Given the description of an element on the screen output the (x, y) to click on. 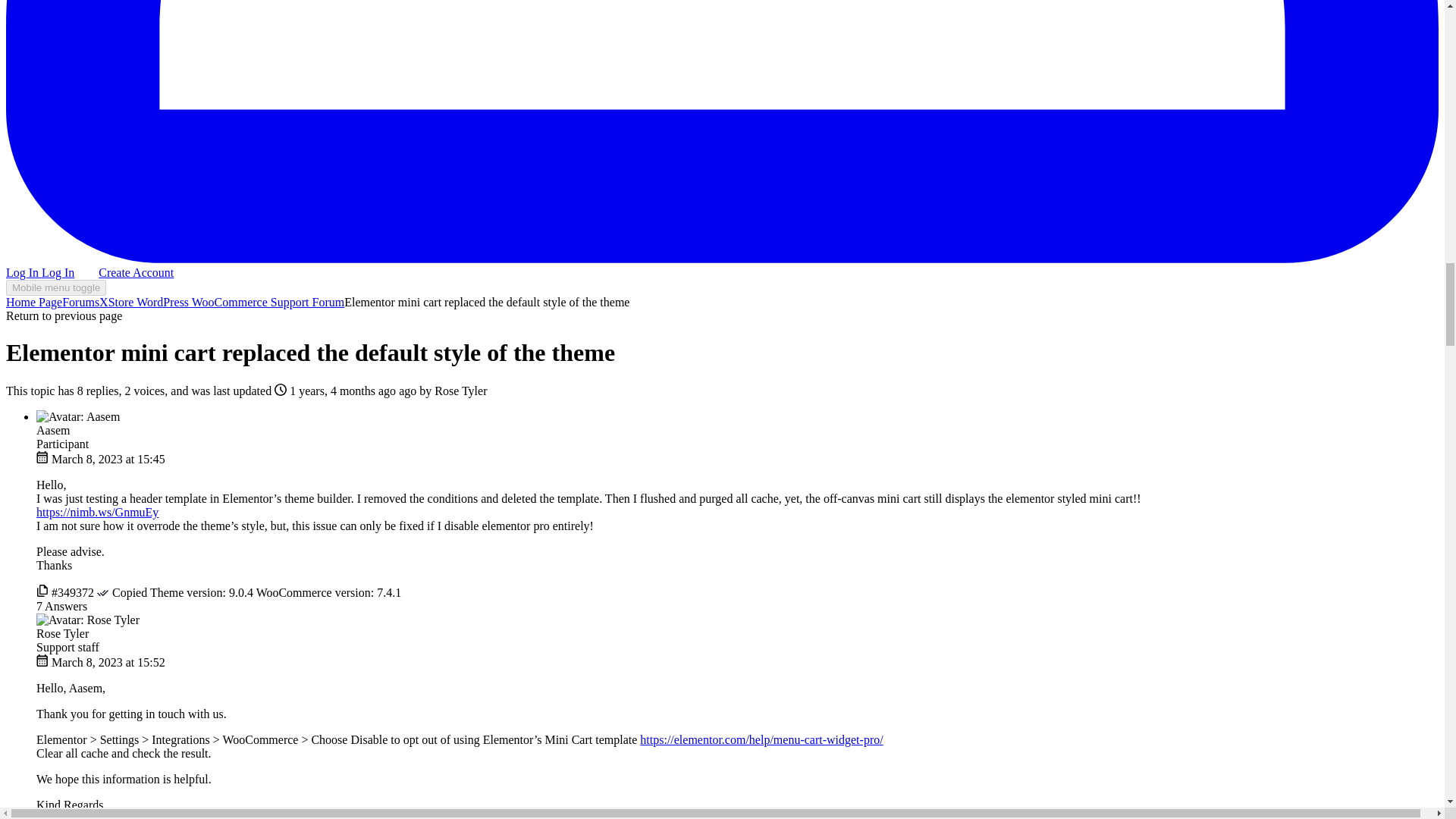
Copy to clipboard (42, 592)
